Given the description of an element on the screen output the (x, y) to click on. 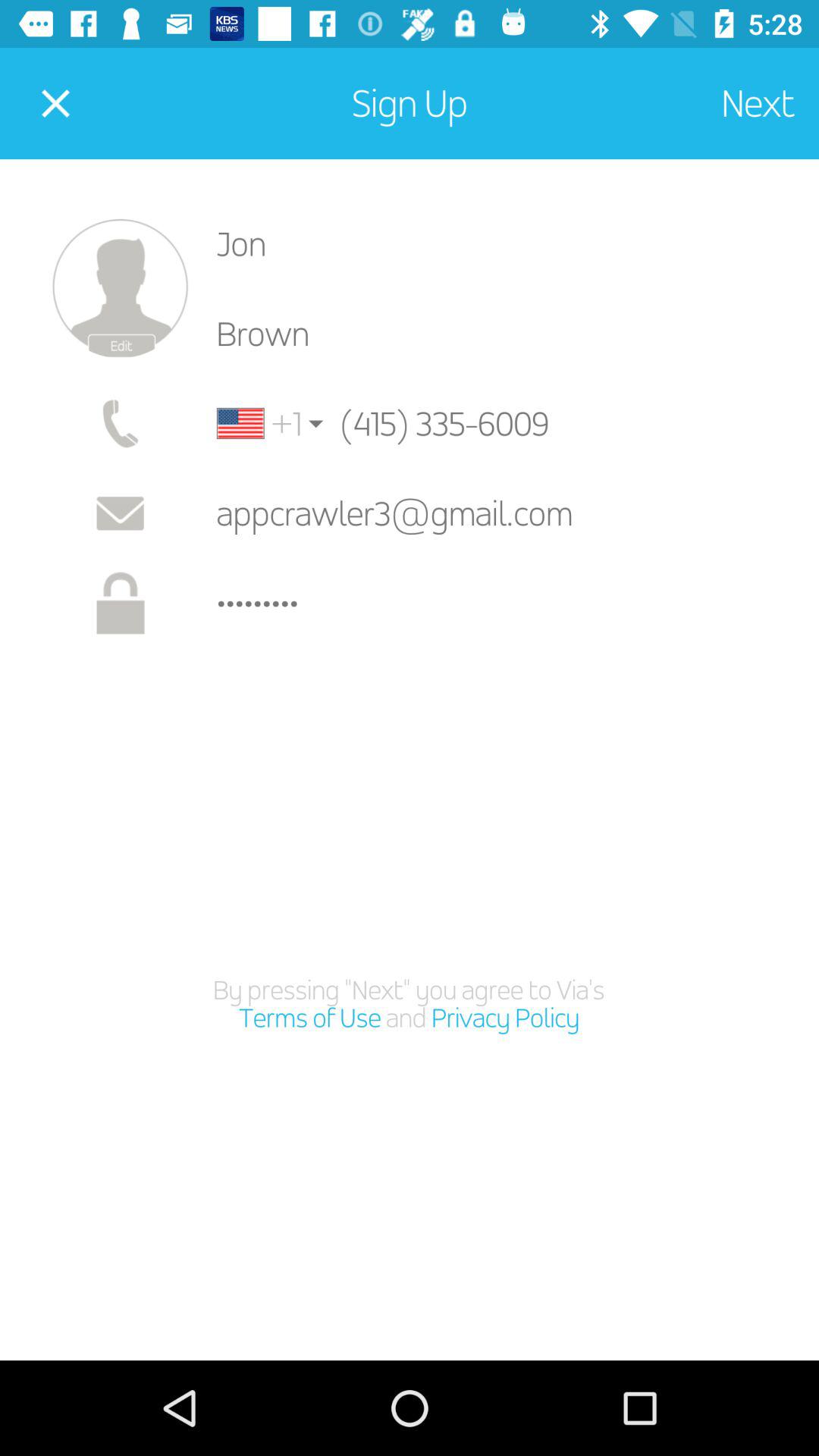
press item below jon icon (505, 333)
